Given the description of an element on the screen output the (x, y) to click on. 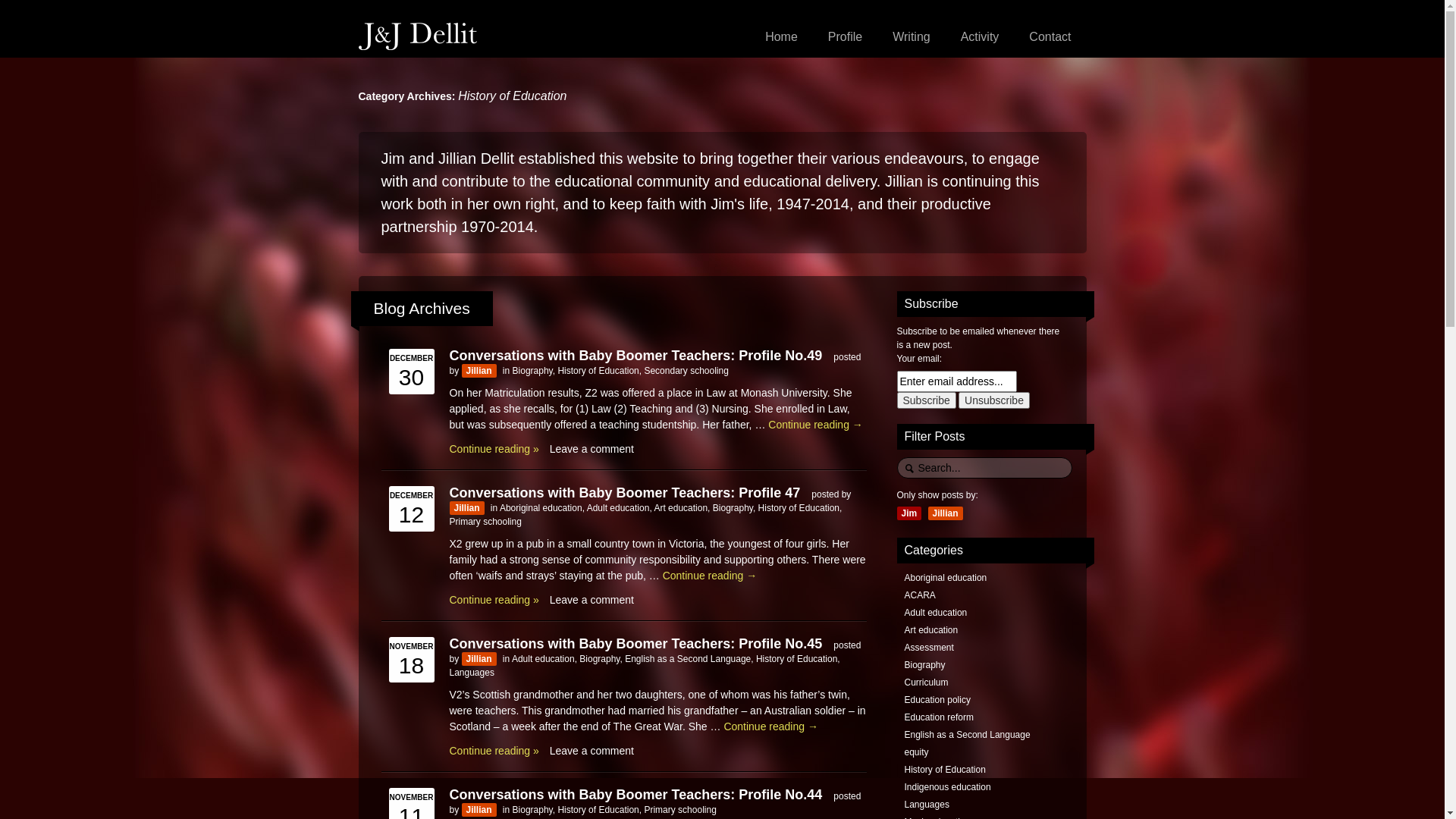
Search Element type: text (22, 8)
Secondary schooling Element type: text (685, 370)
History of Education Element type: text (597, 370)
English as a Second Language Element type: text (687, 658)
Conversations with Baby Boomer Teachers: Profile 47 Element type: text (624, 492)
Subscribe Element type: text (925, 400)
Jillian Element type: text (465, 507)
J&J Dellit Element type: hover (416, 36)
Adult education Element type: text (617, 507)
Jillian Element type: text (945, 513)
Indigenous education Element type: text (946, 786)
Leave a comment Element type: text (591, 750)
Art education Element type: text (680, 507)
Conversations with Baby Boomer Teachers: Profile No.49 Element type: text (635, 354)
Aboriginal education Element type: text (540, 507)
Profile Element type: text (844, 36)
Education policy Element type: text (936, 699)
Primary schooling Element type: text (679, 808)
Curriculum Element type: text (925, 682)
Conversations with Baby Boomer Teachers: Profile No.44 Element type: text (635, 794)
History of Education Element type: text (796, 658)
Adult education Element type: text (542, 658)
History of Education Element type: text (597, 808)
English as a Second Language Element type: text (966, 734)
Aboriginal education Element type: text (944, 577)
Art education Element type: text (930, 629)
Writing Element type: text (911, 36)
Jillian Element type: text (478, 808)
Jillian Element type: text (478, 370)
Biography Element type: text (599, 658)
Biography Element type: text (532, 370)
Biography Element type: text (532, 808)
Leave a comment Element type: text (591, 599)
Jillian Element type: text (478, 658)
Languages Element type: text (925, 804)
ACARA Element type: text (919, 594)
Activity Element type: text (979, 36)
Contact Element type: text (1049, 36)
Biography Element type: text (732, 507)
Languages Element type: text (470, 672)
Adult education Element type: text (934, 612)
Biography Element type: text (923, 664)
Assessment Element type: text (928, 647)
Leave a comment Element type: text (591, 448)
Jim Element type: text (908, 513)
Education reform Element type: text (937, 717)
Home Element type: text (780, 36)
Primary schooling Element type: text (484, 520)
Unsubscribe Element type: text (993, 400)
Conversations with Baby Boomer Teachers: Profile No.45 Element type: text (635, 642)
equity Element type: text (915, 751)
History of Education Element type: text (798, 507)
History of Education Element type: text (944, 769)
